Given the description of an element on the screen output the (x, y) to click on. 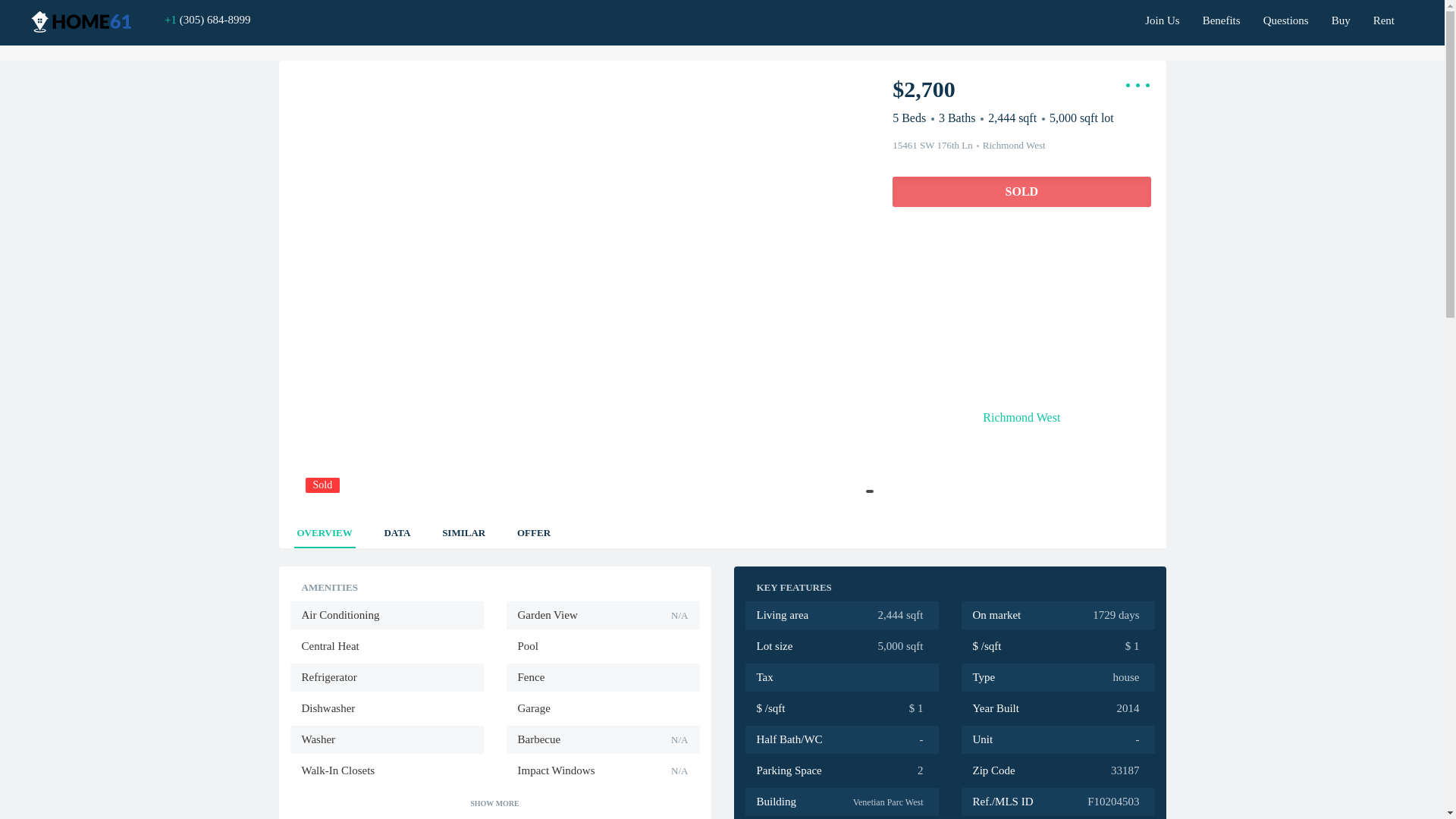
Join Us (1162, 15)
OFFER (533, 529)
Rent (1383, 15)
SHOW MORE (493, 803)
Buy (1340, 15)
Benefits (1221, 15)
SIMILAR (463, 529)
Directions (953, 250)
Questions (1286, 15)
OVERVIEW (324, 529)
